Given the description of an element on the screen output the (x, y) to click on. 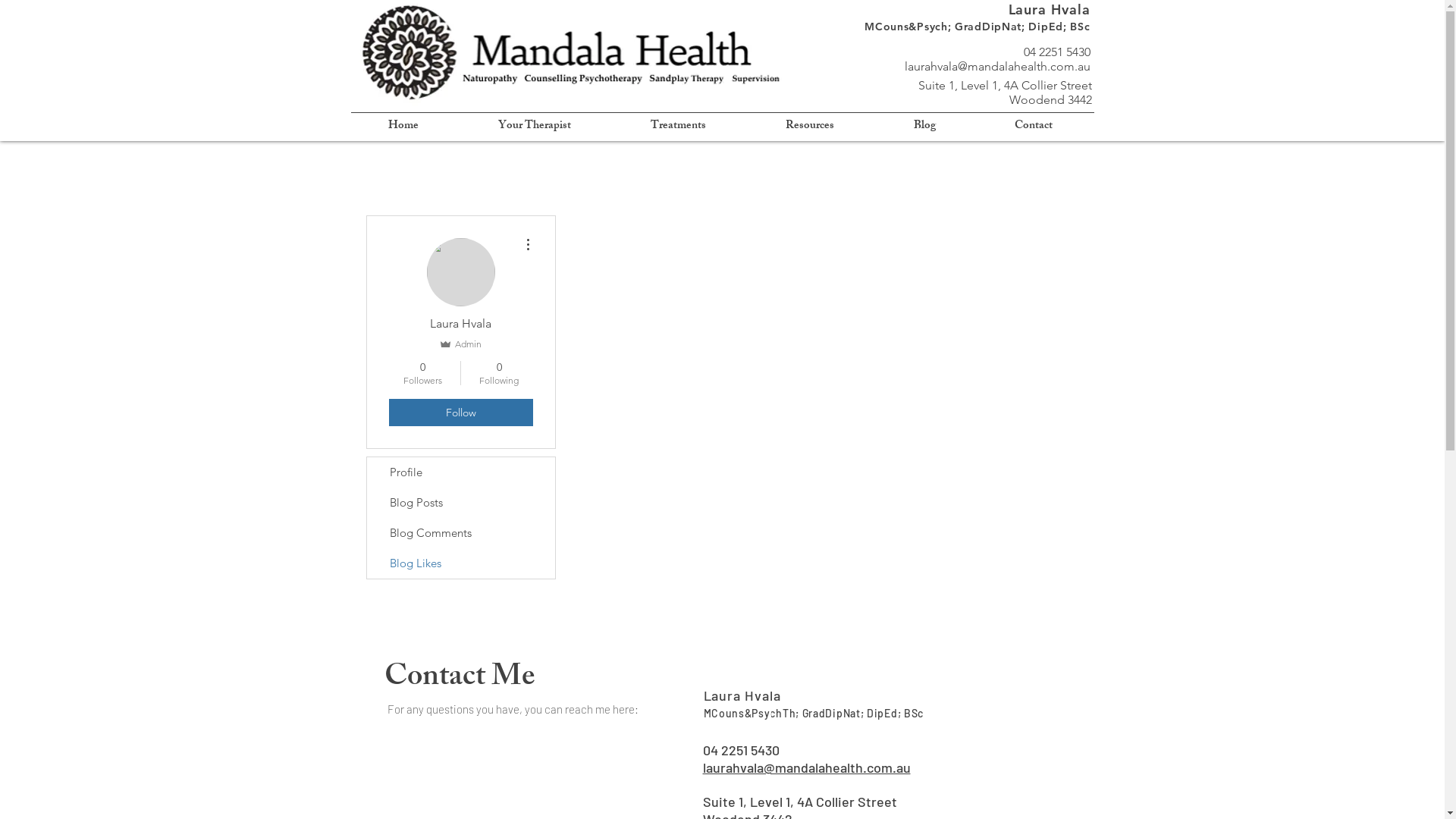
laurahvala@mandalahealth.com.au Element type: text (996, 66)
Laura Hvala Element type: text (1049, 9)
Blog Element type: text (923, 126)
0
Following Element type: text (499, 372)
Follow Element type: text (460, 412)
Treatments Element type: text (678, 126)
0
Followers Element type: text (421, 372)
04 2251 5430 Element type: text (740, 749)
Profile Element type: text (461, 472)
laurahvala@mandalahealth.com.au Element type: text (806, 767)
Home Element type: text (403, 126)
Resources Element type: text (810, 126)
Laura Hvala Element type: text (742, 695)
Contact Element type: text (1033, 126)
Your Therapist Element type: text (534, 126)
Blog Comments Element type: text (461, 532)
Suite 1, Level 1, 4A Collier Street Element type: text (1004, 85)
Blog Posts Element type: text (461, 502)
Blog Likes Element type: text (461, 563)
Suite 1, Level 1, 4A Collier Street Element type: text (799, 801)
